Given the description of an element on the screen output the (x, y) to click on. 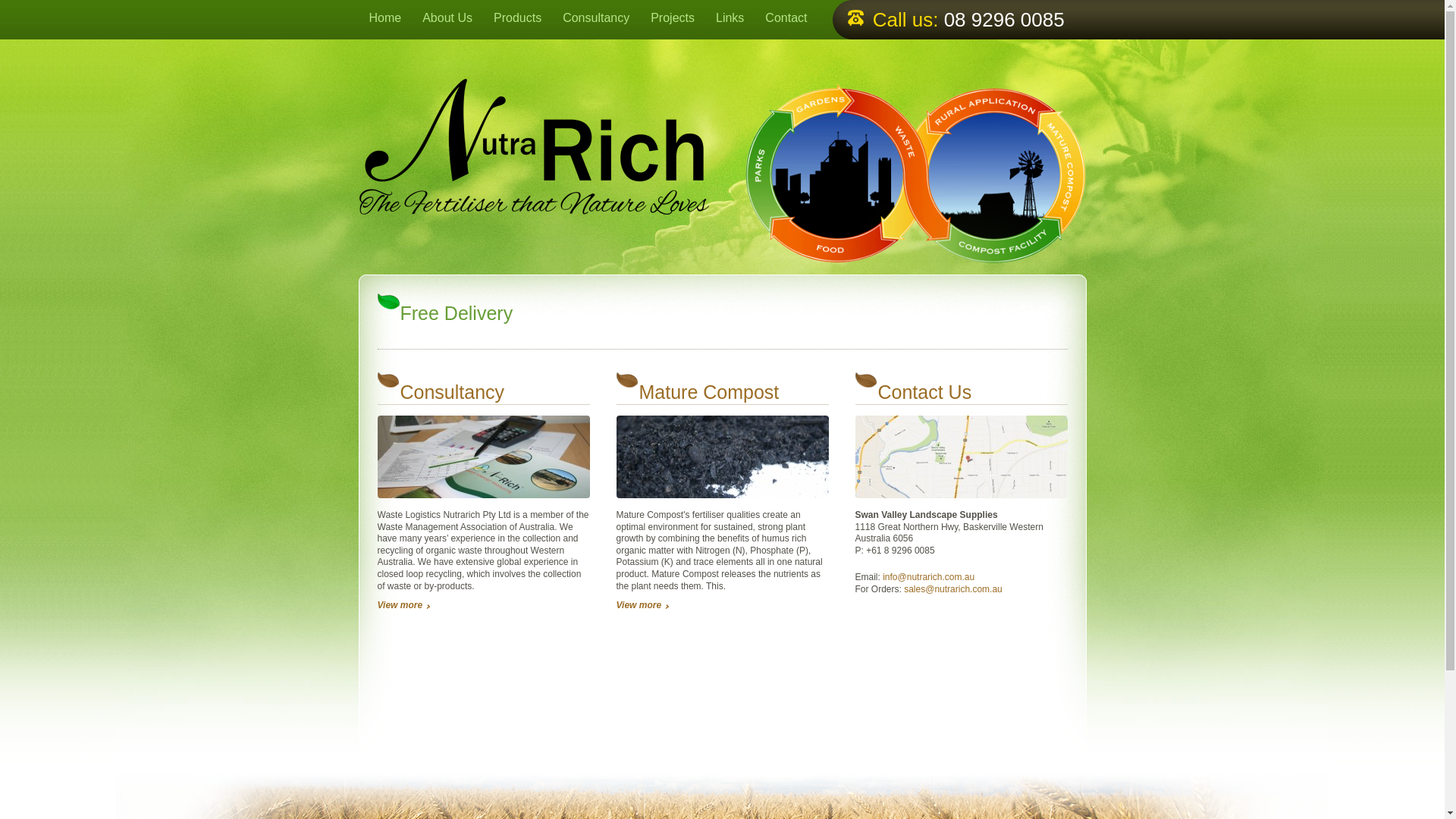
Consultancy (595, 19)
About Us (447, 19)
Links (729, 19)
Projects (672, 19)
Products (517, 19)
Home (385, 19)
View more (641, 604)
Email Us (953, 588)
View more (403, 604)
